Given the description of an element on the screen output the (x, y) to click on. 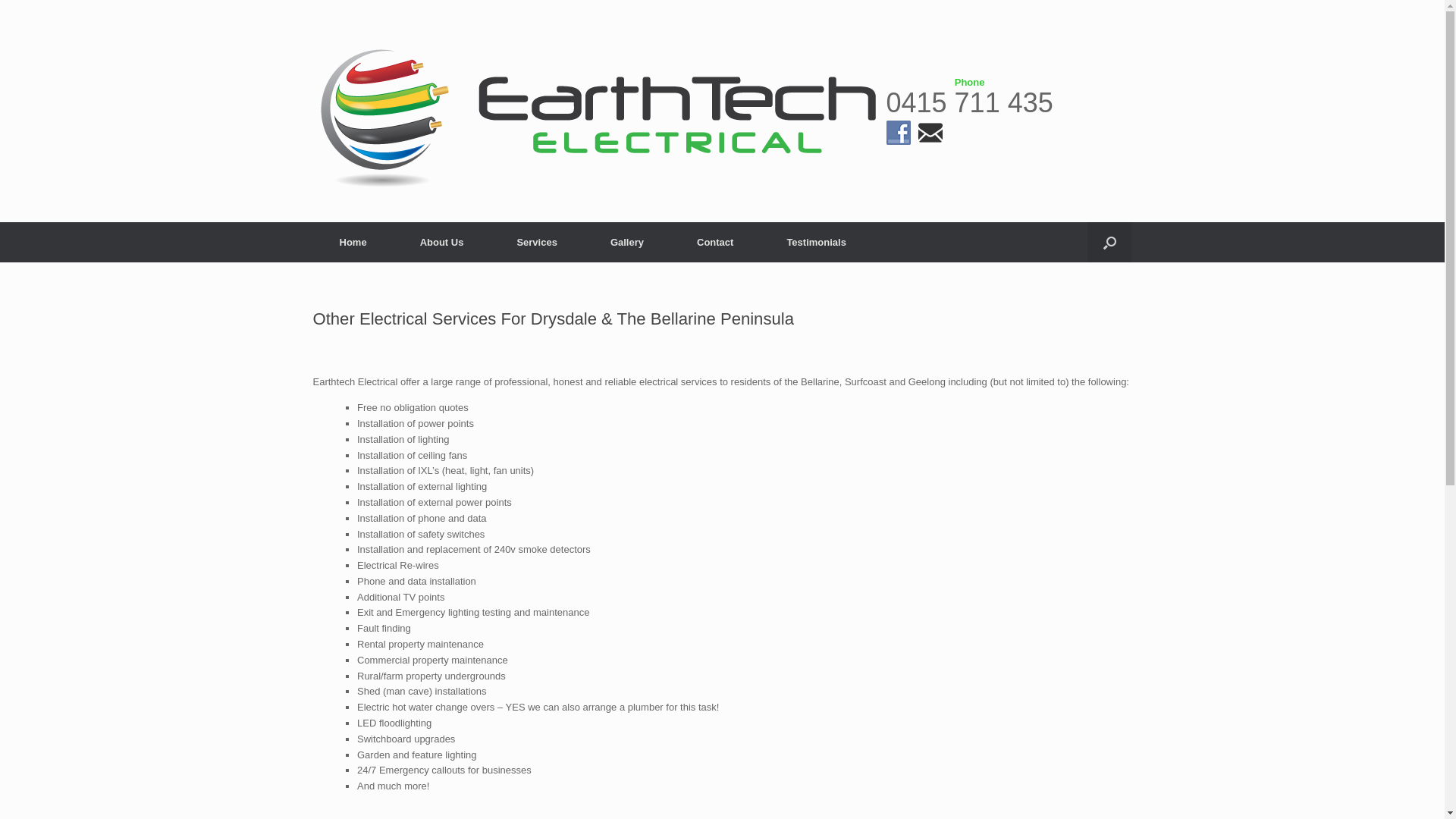
Follow Us on Email Us Element type: hover (929, 132)
Services Element type: text (536, 242)
Earth Tech Electrical Element type: hover (598, 111)
Follow Us on Facebook Element type: hover (897, 132)
About Us Element type: text (441, 242)
Home Element type: text (352, 242)
Contact Element type: text (714, 242)
Gallery Element type: text (626, 242)
Testimonials Element type: text (815, 242)
